Given the description of an element on the screen output the (x, y) to click on. 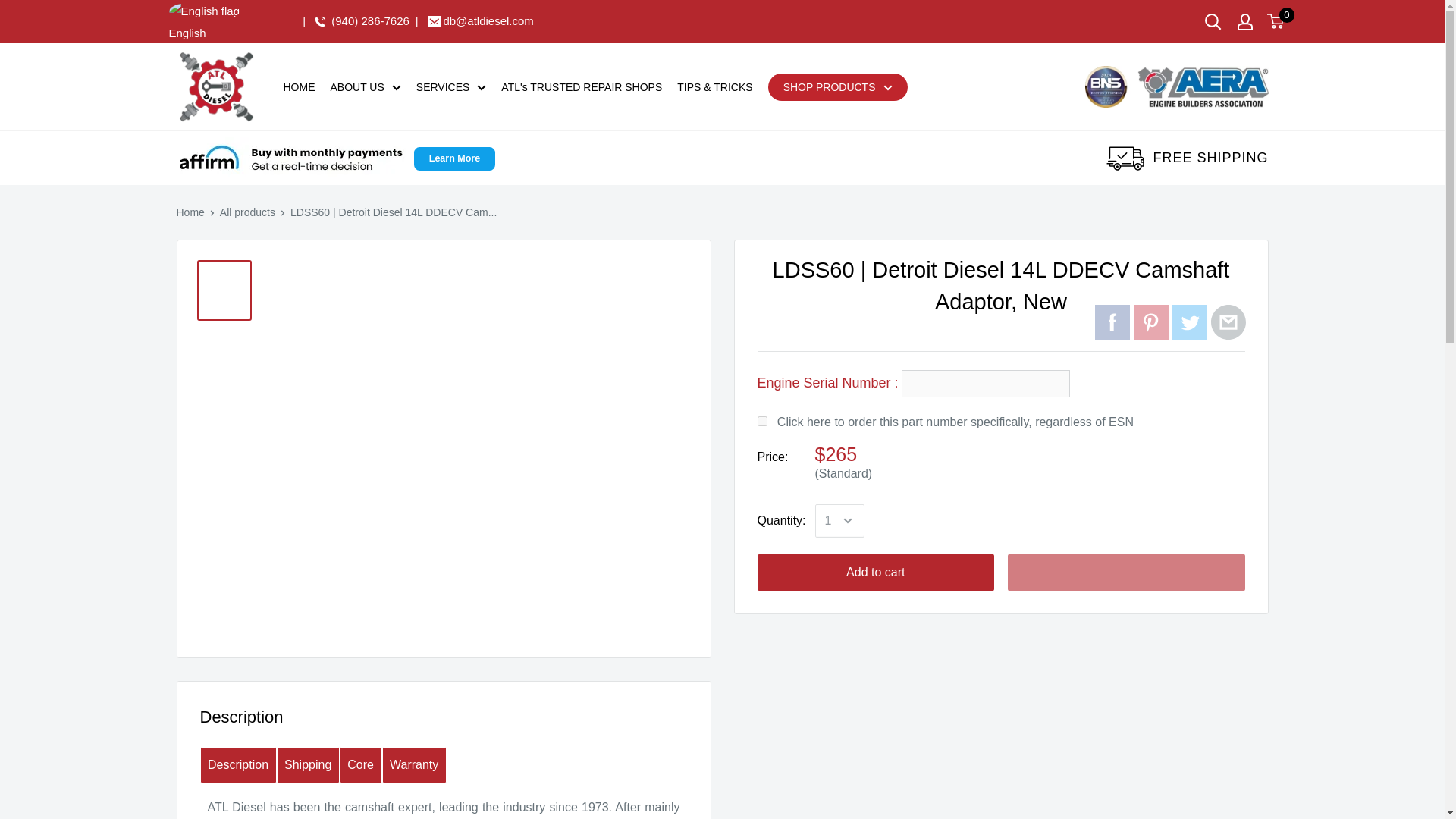
on (762, 420)
English (207, 21)
